Given the description of an element on the screen output the (x, y) to click on. 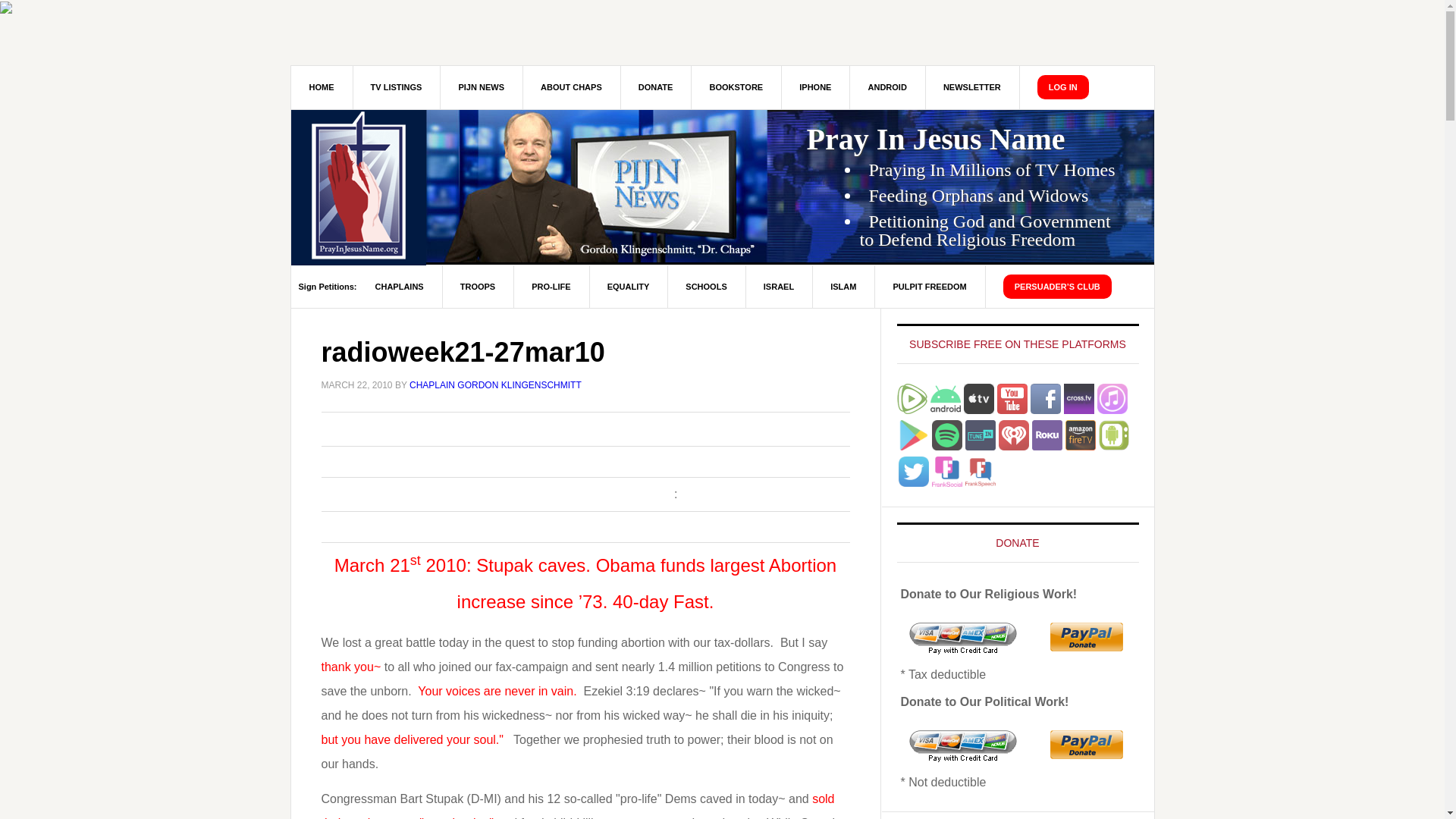
EQUALITY (628, 286)
CHAPLAINS (399, 286)
PRO-LIFE (551, 286)
Donate using a credit card (962, 754)
TV LISTINGS (396, 87)
Donate using a credit card (962, 646)
HOME (322, 87)
IPHONE (815, 87)
PULPIT FREEDOM (930, 286)
NEWSLETTER (972, 87)
TROOPS (477, 286)
BOOKSTORE (735, 87)
PIJN NEWS (480, 87)
ISLAM (843, 286)
DONATE (656, 87)
